Given the description of an element on the screen output the (x, y) to click on. 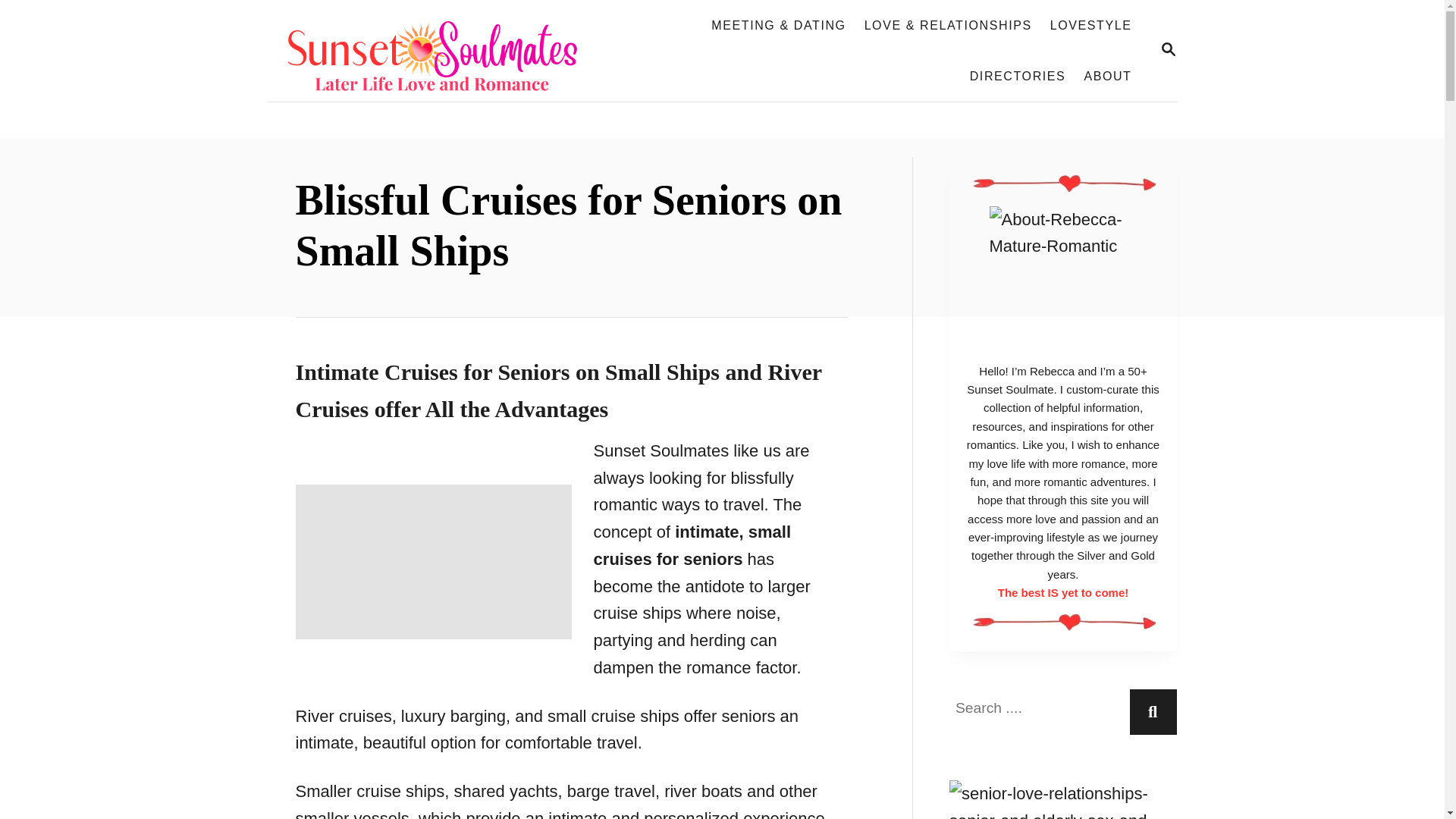
Senior Citizen Dating and Romantic Relationships (439, 50)
ABOUT (1107, 75)
DIRECTORIES (1017, 75)
Blissful Cruises for Seniors on Small Ships 1 (433, 561)
MAGNIFYING GLASS (1167, 49)
LOVESTYLE (1091, 25)
